Given the description of an element on the screen output the (x, y) to click on. 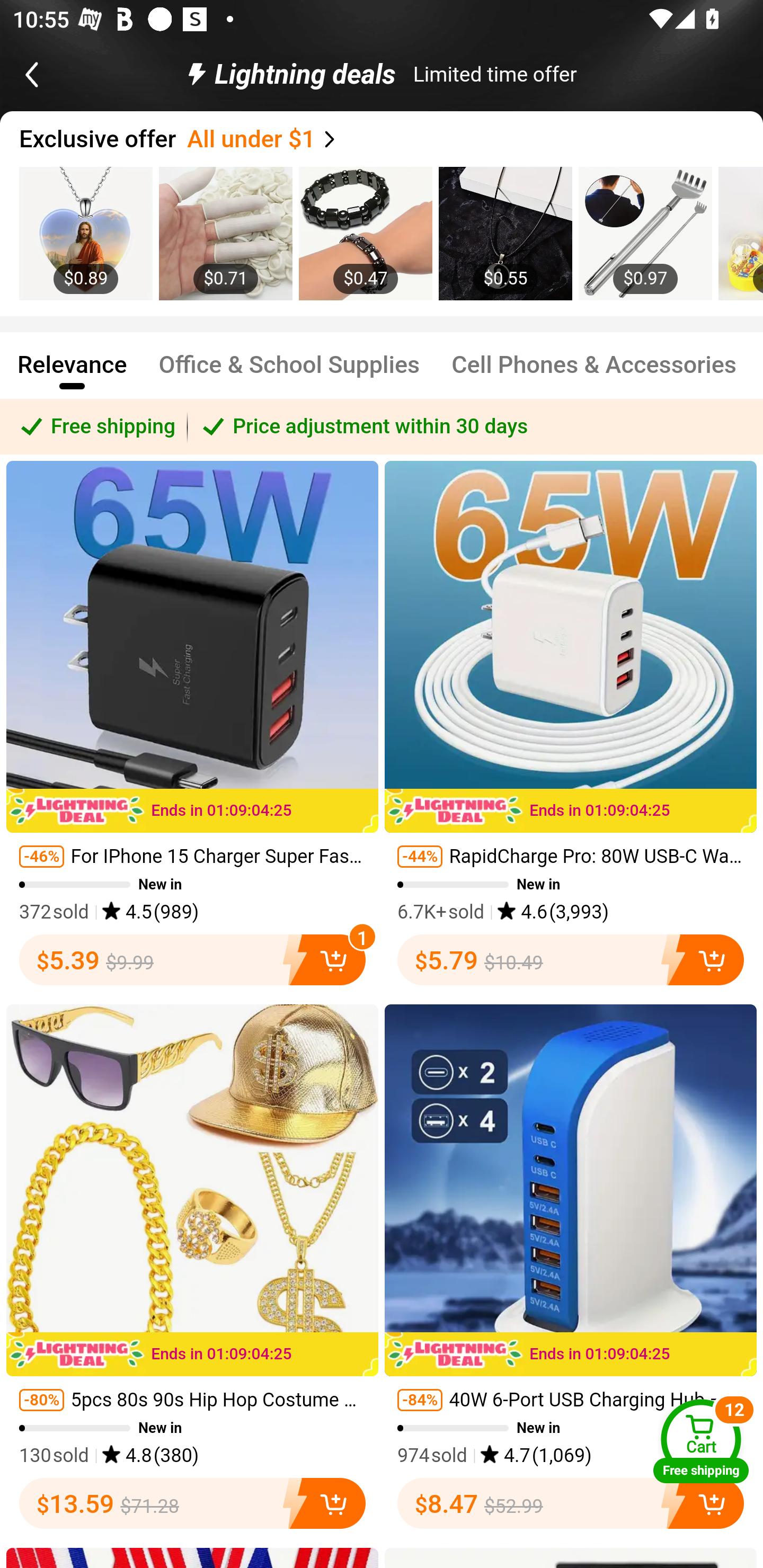
Exclusive offer All under $1 (391, 138)
Relevance (72, 373)
Office & School Supplies (289, 373)
Cell Phones & Accessories (594, 373)
Free shipping (94, 426)
Price adjustment within 30 days (475, 426)
$5.39 $9.99 1 (192, 959)
$5.79 $10.49 (570, 959)
1 (327, 959)
Cart Free shipping Cart (701, 1440)
$13.59 $71.28 (192, 1503)
$8.47 $52.99 (570, 1503)
